Given the description of an element on the screen output the (x, y) to click on. 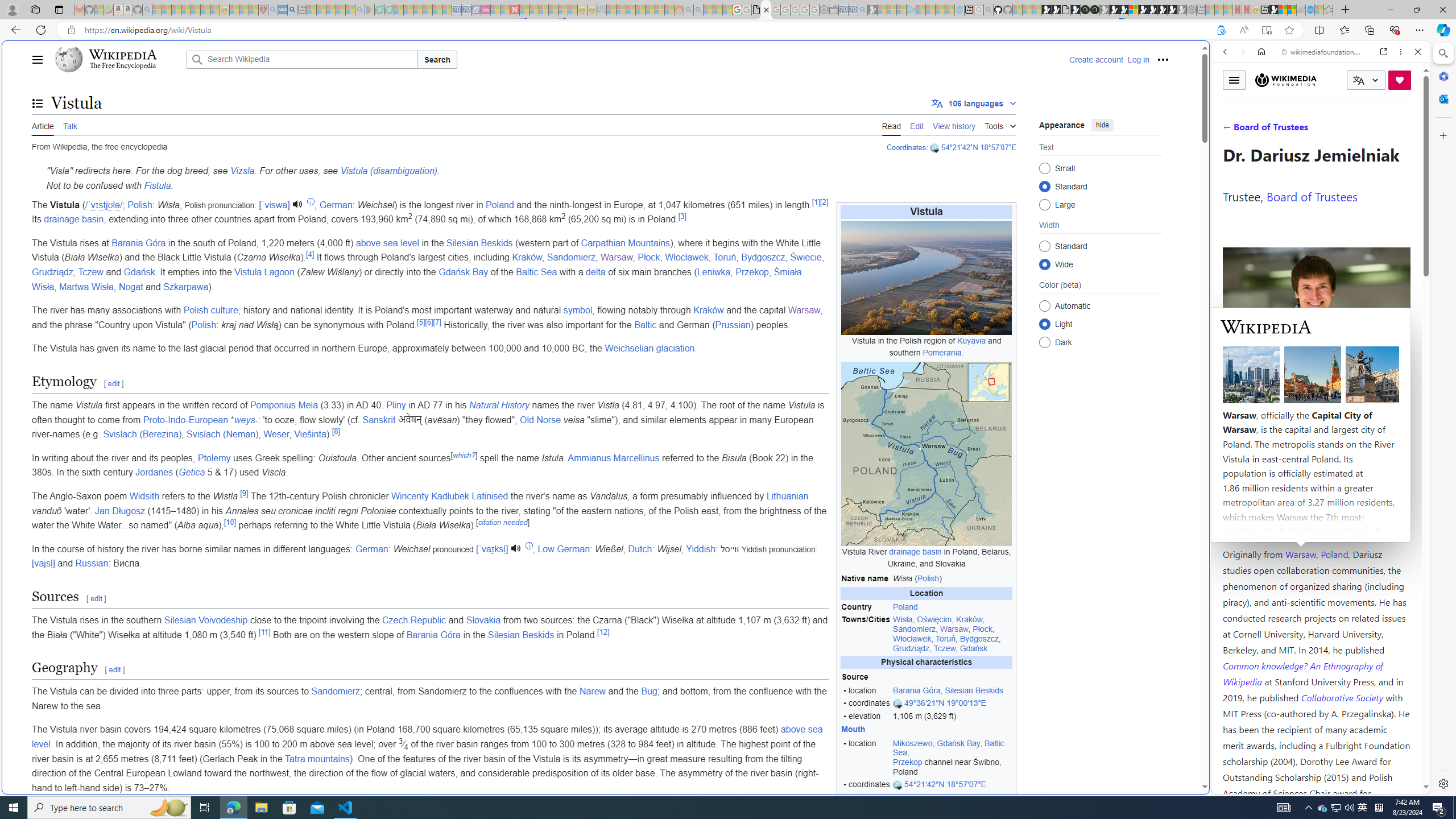
Log in (1137, 58)
To get missing image descriptions, open the context menu. (926, 277)
Wikimedia Foundation (1285, 79)
New tab - Sleeping (1200, 9)
Donate now (1399, 80)
Log in (1137, 58)
Towns/Cities (865, 634)
Search Wikipedia (301, 59)
Natural History (498, 405)
